Given the description of an element on the screen output the (x, y) to click on. 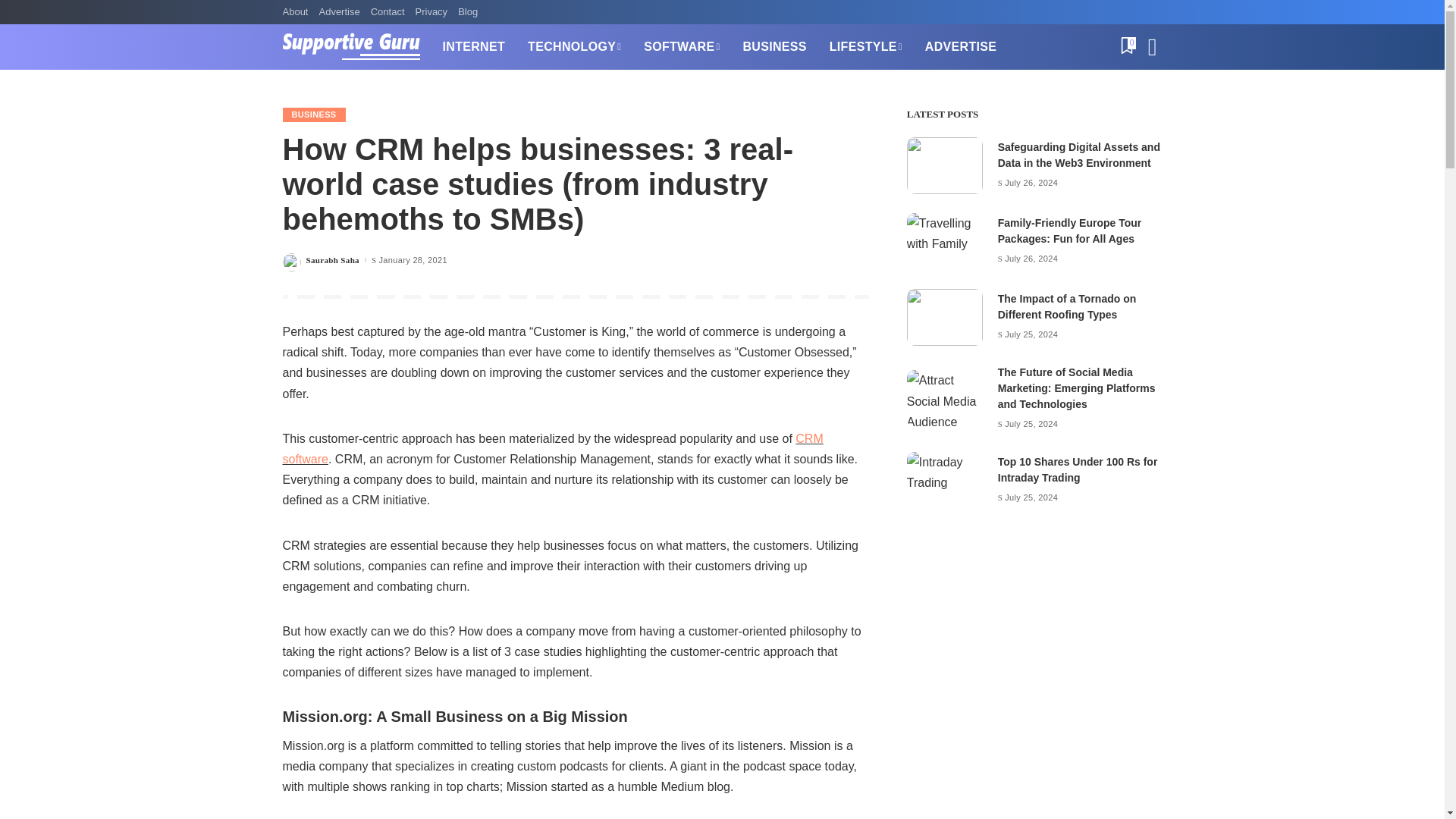
Privacy (430, 11)
SOFTWARE (680, 46)
Supportive Guru (350, 46)
TECHNOLOGY (573, 46)
About (297, 11)
Contact (387, 11)
LIFESTYLE (866, 46)
Advertise (339, 11)
BUSINESS (773, 46)
INTERNET (473, 46)
Blog (467, 11)
